Given the description of an element on the screen output the (x, y) to click on. 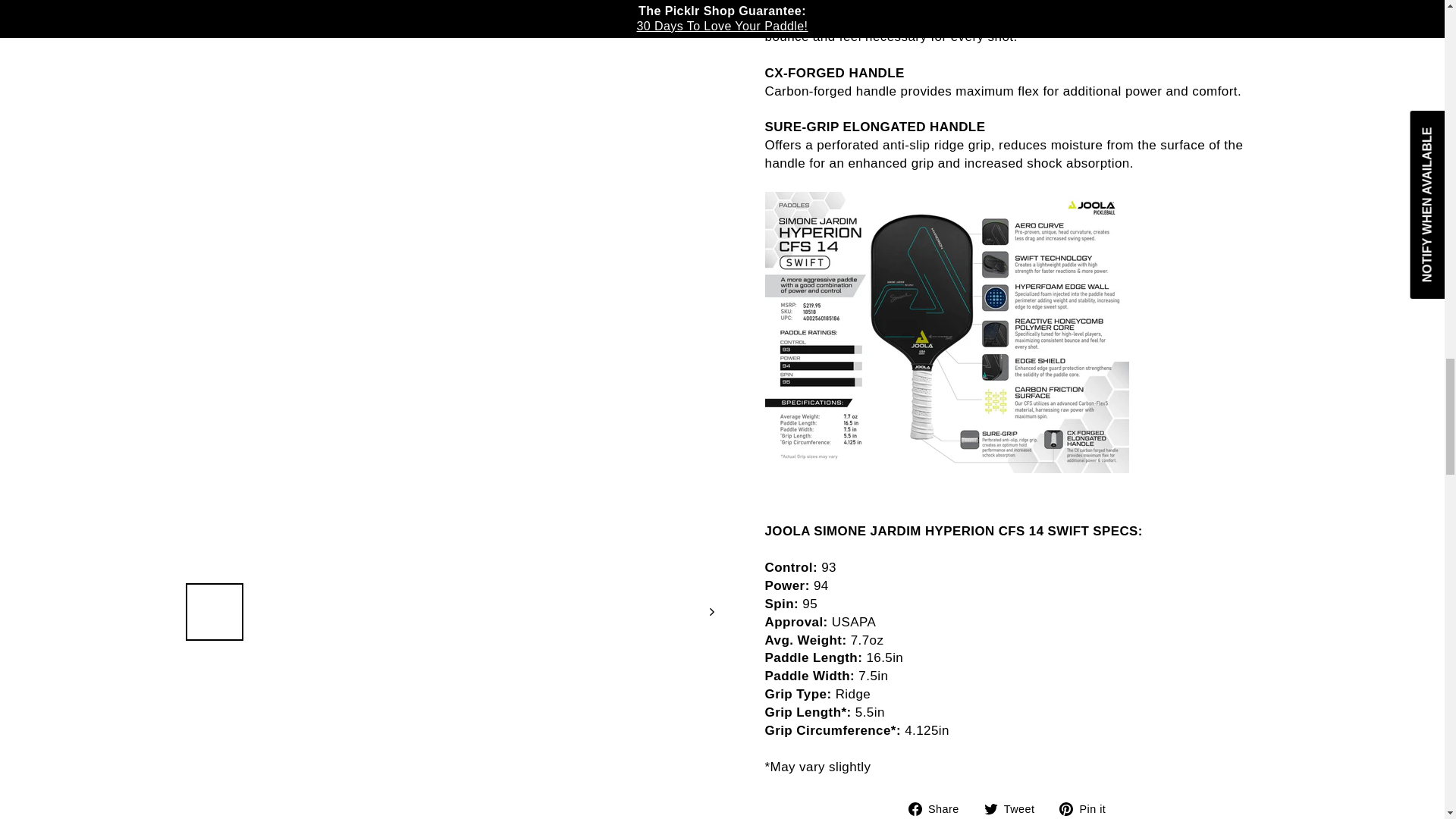
Pin on Pinterest (1087, 808)
Share on Facebook (939, 808)
Tweet on Twitter (1015, 808)
